Given the description of an element on the screen output the (x, y) to click on. 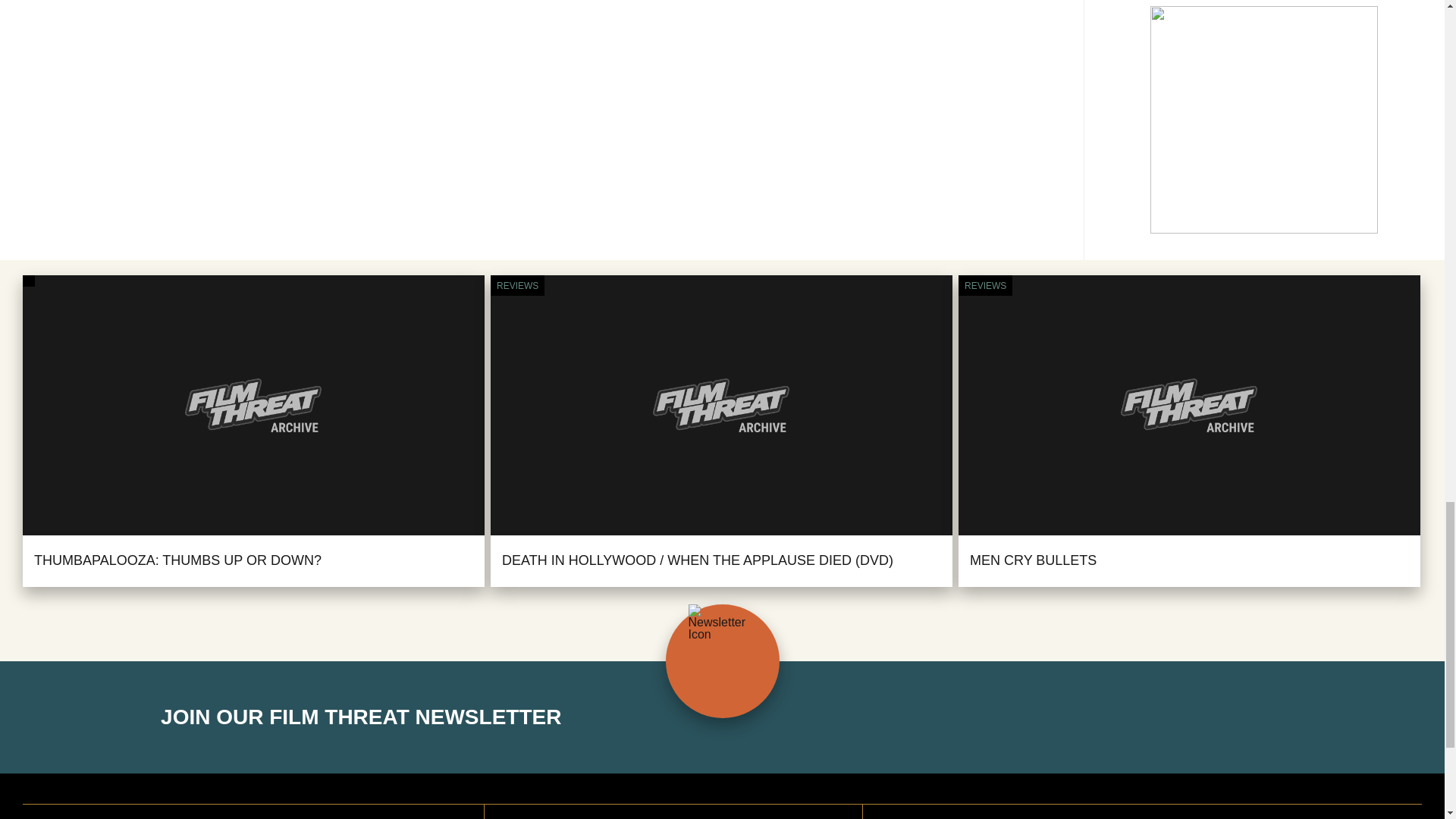
Reviews (984, 285)
Reviews (517, 285)
REVIEWS (984, 285)
MEN CRY BULLETS (1032, 560)
THUMBAPALOOZA: THUMBS UP OR DOWN? (177, 560)
REVIEWS (517, 285)
